Given the description of an element on the screen output the (x, y) to click on. 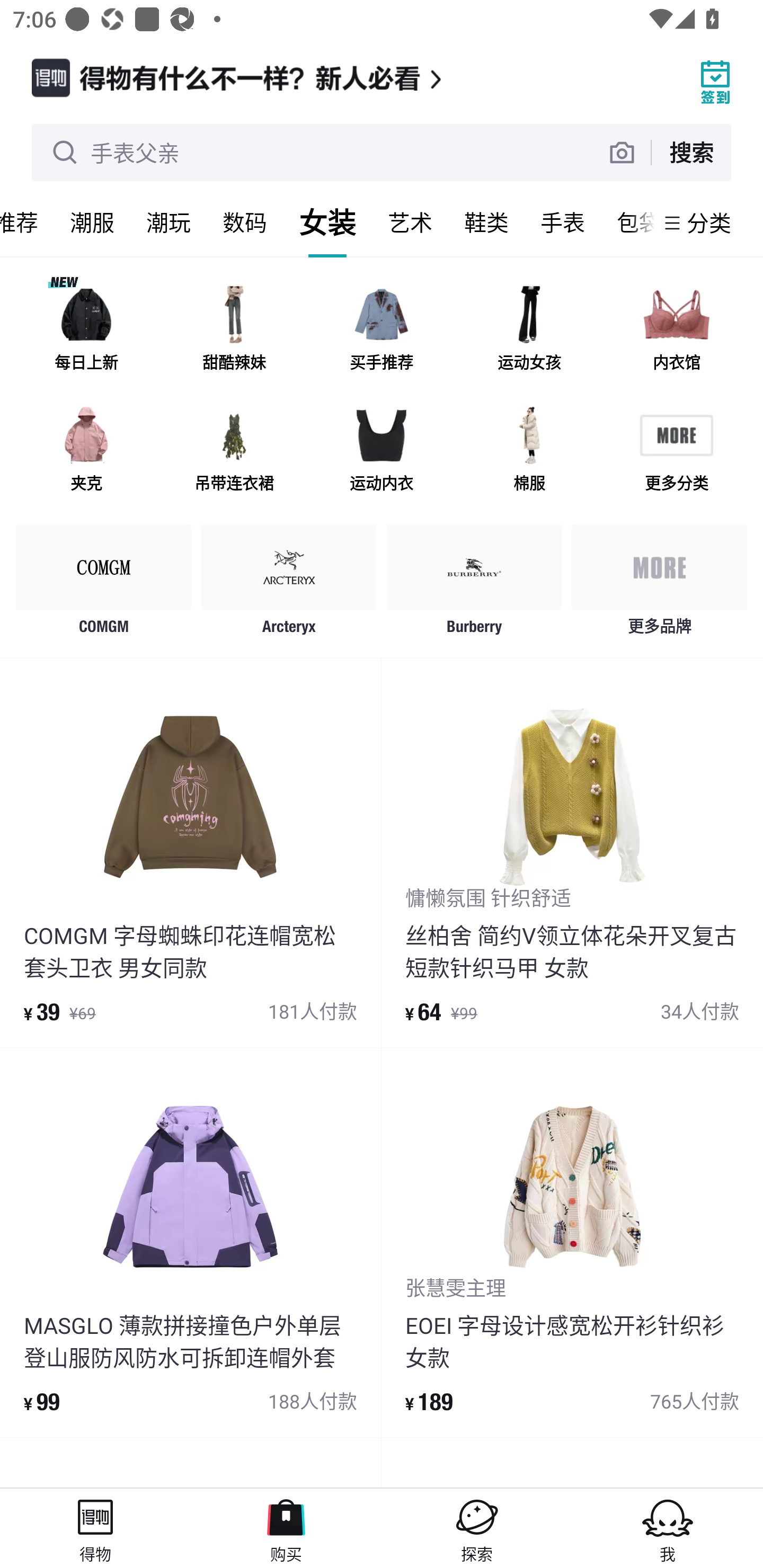
搜索 (690, 152)
潮服 (92, 222)
潮玩 (168, 222)
数码 (244, 222)
女装 (327, 222)
艺术 (410, 222)
鞋类 (486, 222)
手表 (562, 222)
分类 (708, 222)
每日上新 (86, 329)
甜酷辣妹 (233, 329)
买手推荐 (381, 329)
运动女孩 (528, 329)
内衣馆 (676, 329)
夹克 (86, 450)
吊带连衣裙 (233, 450)
运动内衣 (381, 450)
棉服 (528, 450)
更多分类 (676, 450)
COMGM (103, 583)
Arcteryx (288, 583)
Burberry (473, 583)
更多品牌 (658, 583)
得物 (95, 1528)
购买 (285, 1528)
探索 (476, 1528)
我 (667, 1528)
